Given the description of an element on the screen output the (x, y) to click on. 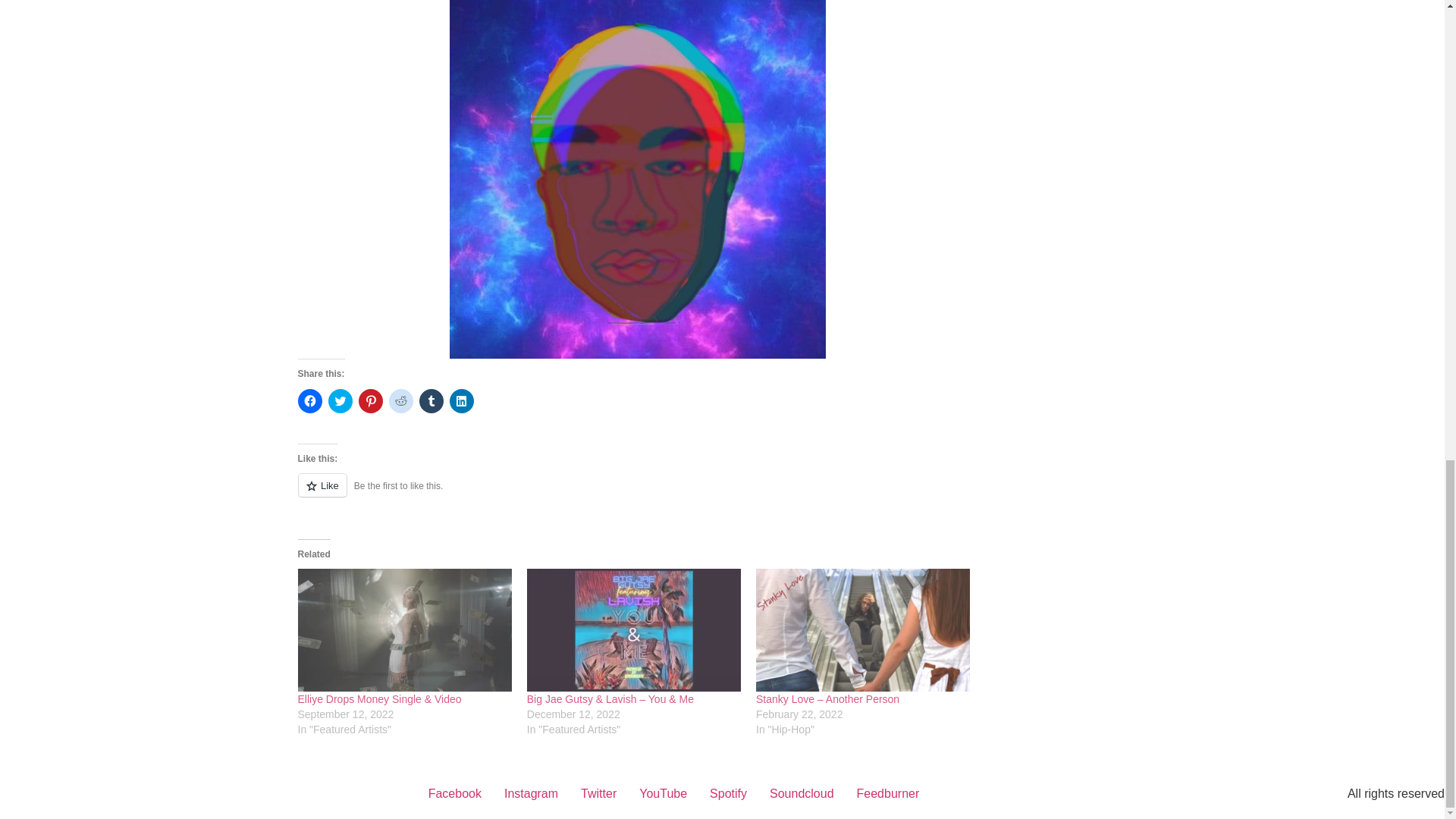
Like or Reblog (636, 494)
Click to share on Tumblr (430, 401)
Click to share on Pinterest (369, 401)
Click to share on Twitter (339, 401)
Facebook (454, 793)
Click to share on LinkedIn (460, 401)
Click to share on Facebook (309, 401)
Click to share on Reddit (400, 401)
